Given the description of an element on the screen output the (x, y) to click on. 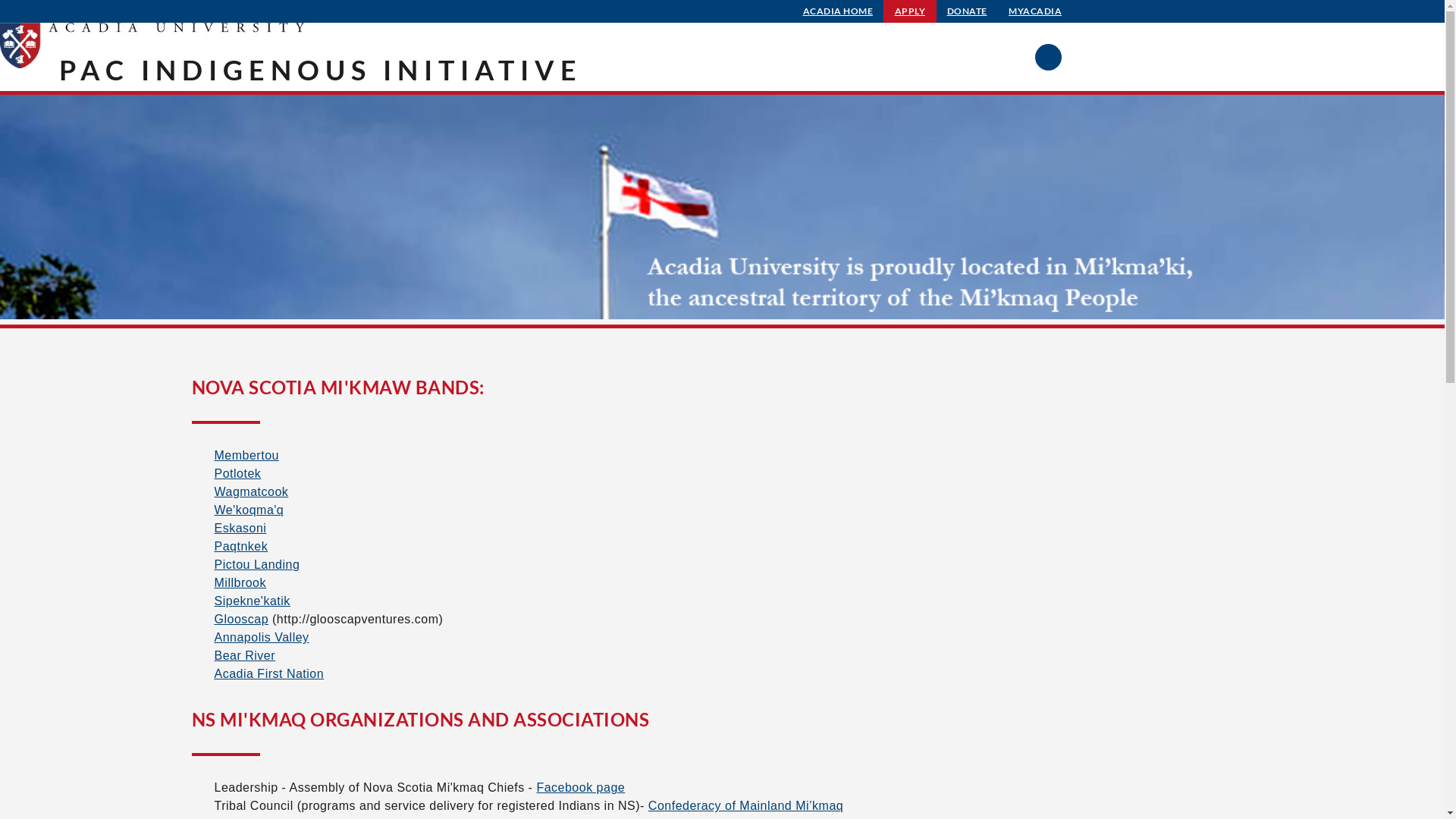
Bear River Element type: text (244, 655)
Pictou Landing Element type: text (256, 564)
Wagmatcook Element type: text (250, 491)
PAC INDIGENOUS INITIATIVE Element type: text (320, 69)
Annapolis Valley Element type: text (260, 636)
Glooscap Element type: text (240, 618)
We'koqma'q Element type: text (248, 509)
ACADIA HOME Element type: text (837, 11)
Facebook page Element type: text (580, 787)
MYACADIA Element type: text (1035, 11)
Eskasoni Element type: text (239, 527)
Potlotek Element type: text (236, 473)
Millbrook Element type: text (239, 582)
Membertou Element type: text (245, 454)
Paqtnkek Element type: text (240, 545)
DONATE Element type: text (966, 11)
Sipekne'katik Element type: text (251, 600)
APPLY Element type: text (909, 11)
Acadia First Nation Element type: text (268, 673)
